Given the description of an element on the screen output the (x, y) to click on. 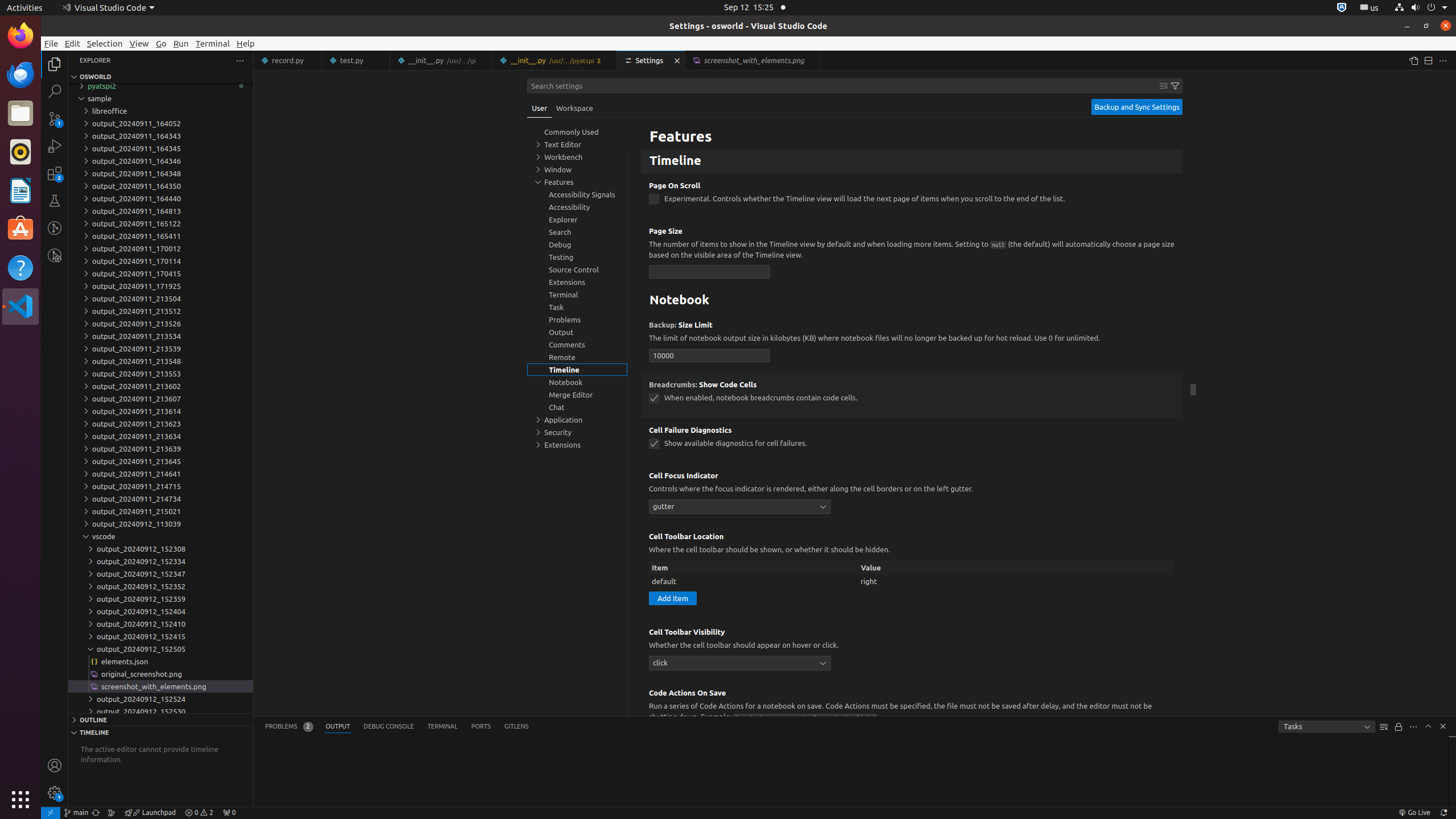
notebook.breadcrumbs.showCodeCells Element type: check-box (653, 398)
Filter Settings Element type: push-button (1174, 85)
Warnings: 2 Element type: push-button (199, 812)
Text Editor, group Element type: tree-item (577, 144)
Selection Element type: push-button (104, 43)
